Given the description of an element on the screen output the (x, y) to click on. 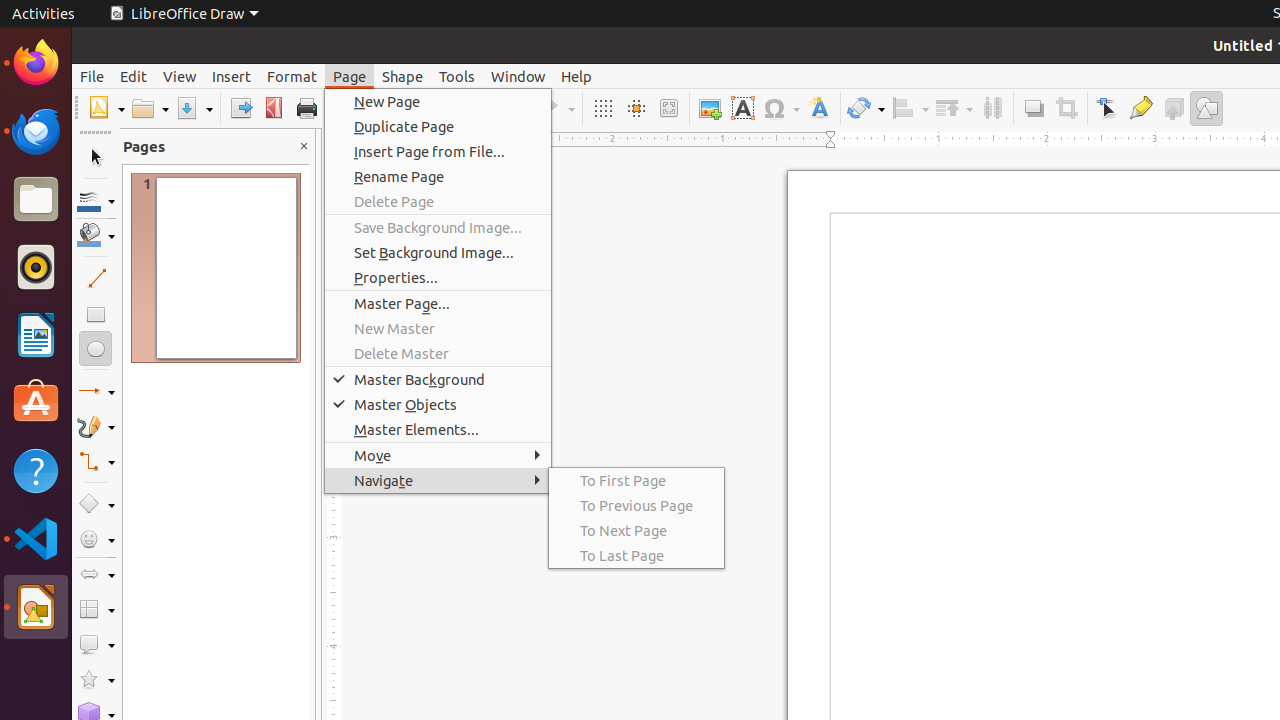
Insert Page from File... Element type: menu-item (438, 151)
Glue Points Element type: push-button (1140, 108)
LibreOffice Draw Element type: menu (183, 13)
Set Background Image... Element type: menu-item (438, 252)
Arrange Element type: push-button (954, 108)
